Given the description of an element on the screen output the (x, y) to click on. 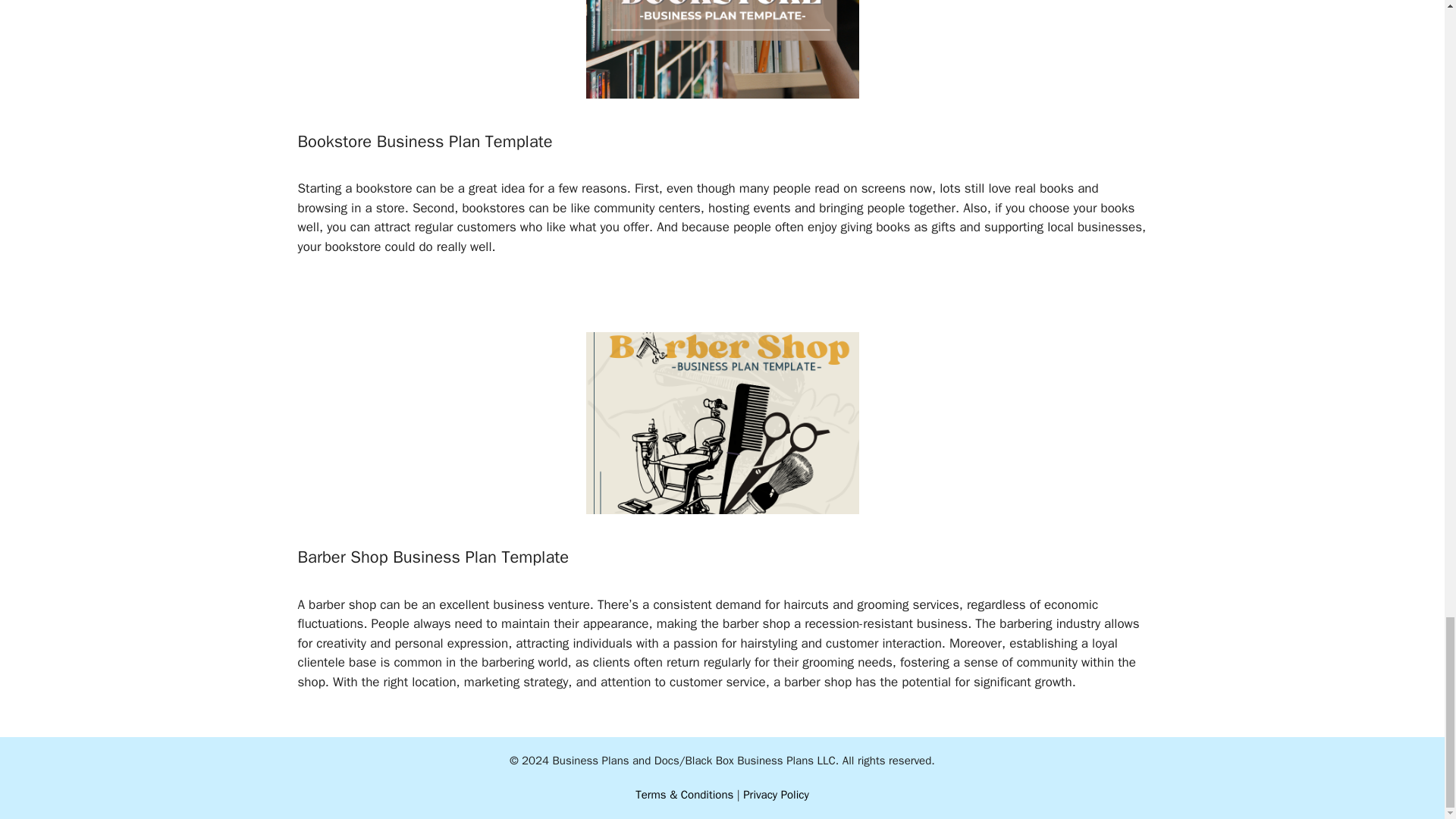
Privacy Policy (775, 794)
Barber Shop Business Plan Template (433, 557)
Bookstore Business Plan Template (424, 141)
